Given the description of an element on the screen output the (x, y) to click on. 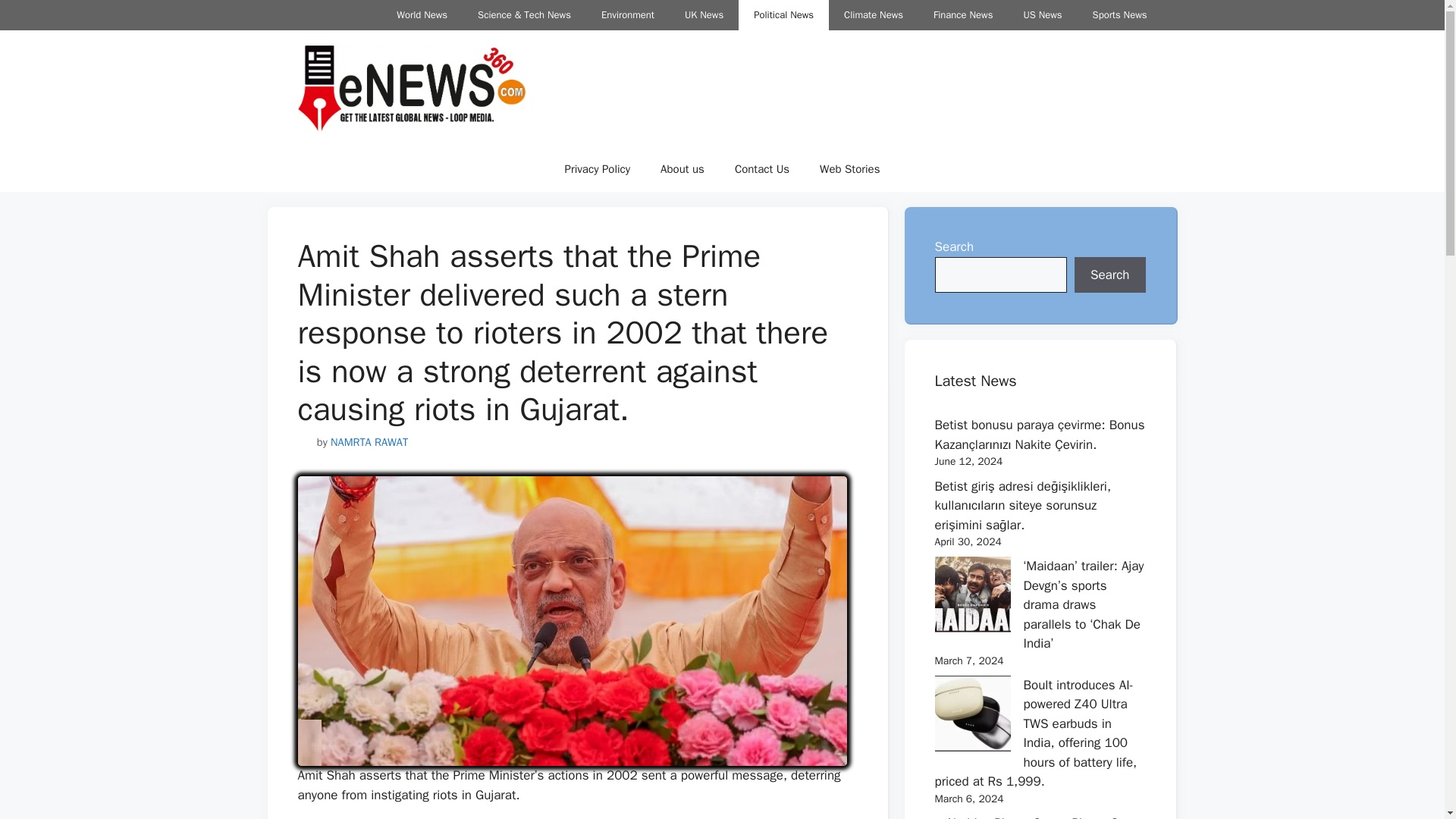
World News (422, 15)
Environment (627, 15)
NAMRTA RAWAT (368, 441)
Web Stories (850, 168)
UK News (703, 15)
Sports News (1119, 15)
About us (682, 168)
Search (1109, 275)
Political News (783, 15)
Privacy Policy (596, 168)
US News (1042, 15)
Contact Us (762, 168)
Finance News (962, 15)
